Given the description of an element on the screen output the (x, y) to click on. 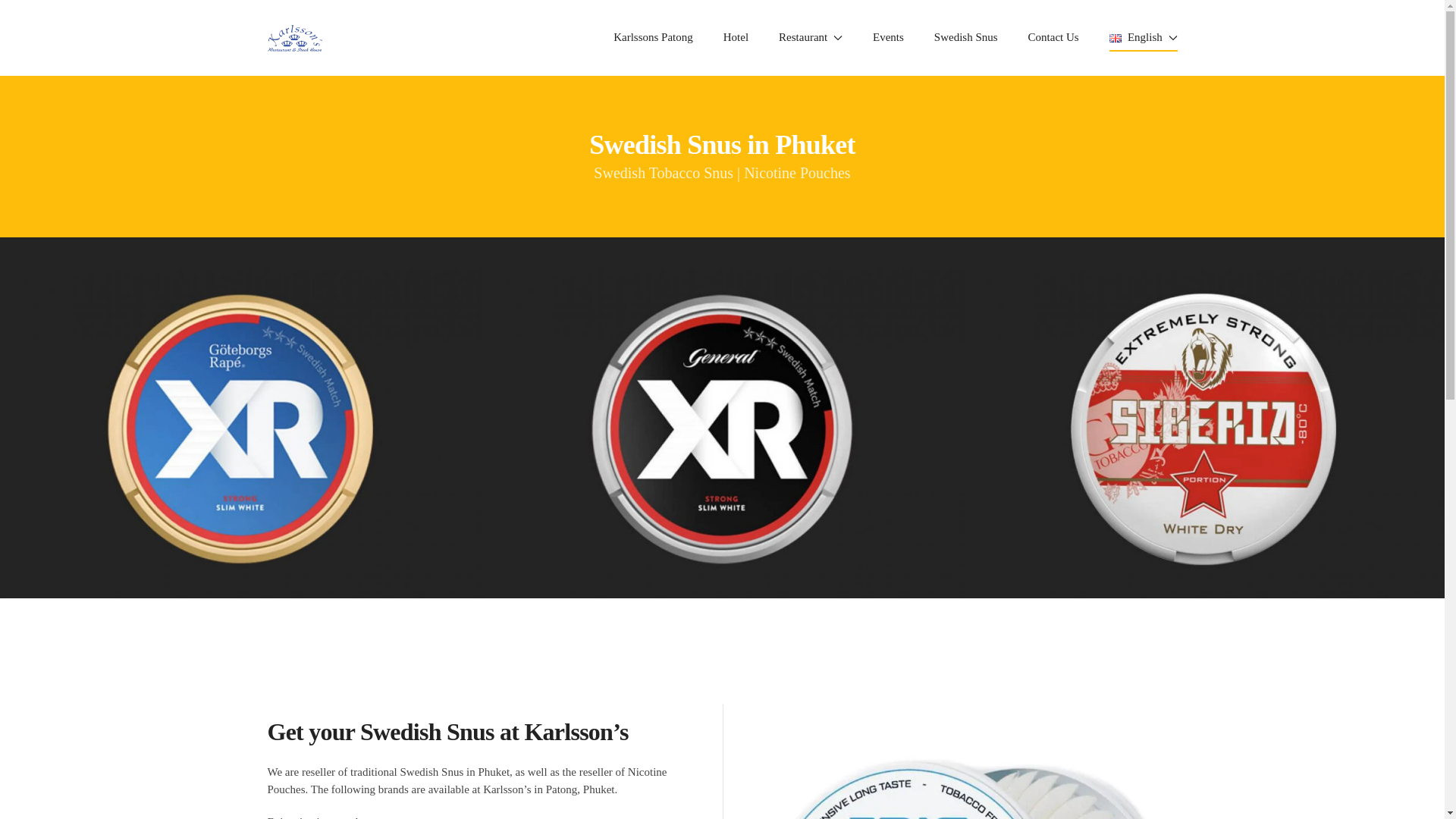
Karlssons Patong (652, 37)
English (1143, 37)
Swedish Snus (965, 37)
Restaurant (810, 37)
